Given the description of an element on the screen output the (x, y) to click on. 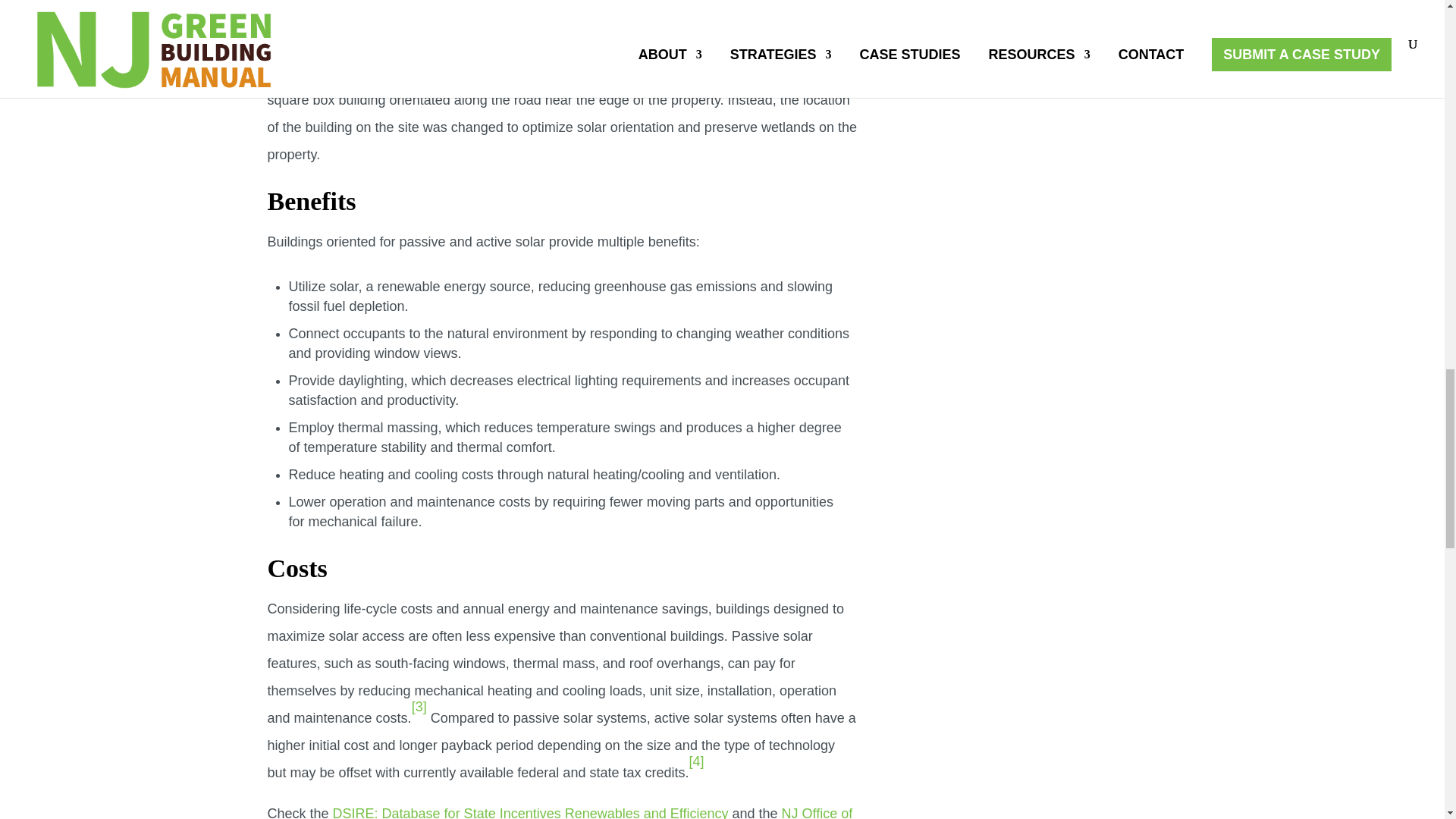
NJ Office of Clean Energy (558, 812)
Cambria Office Facility, Ebensburg, PA. (385, 31)
